Given the description of an element on the screen output the (x, y) to click on. 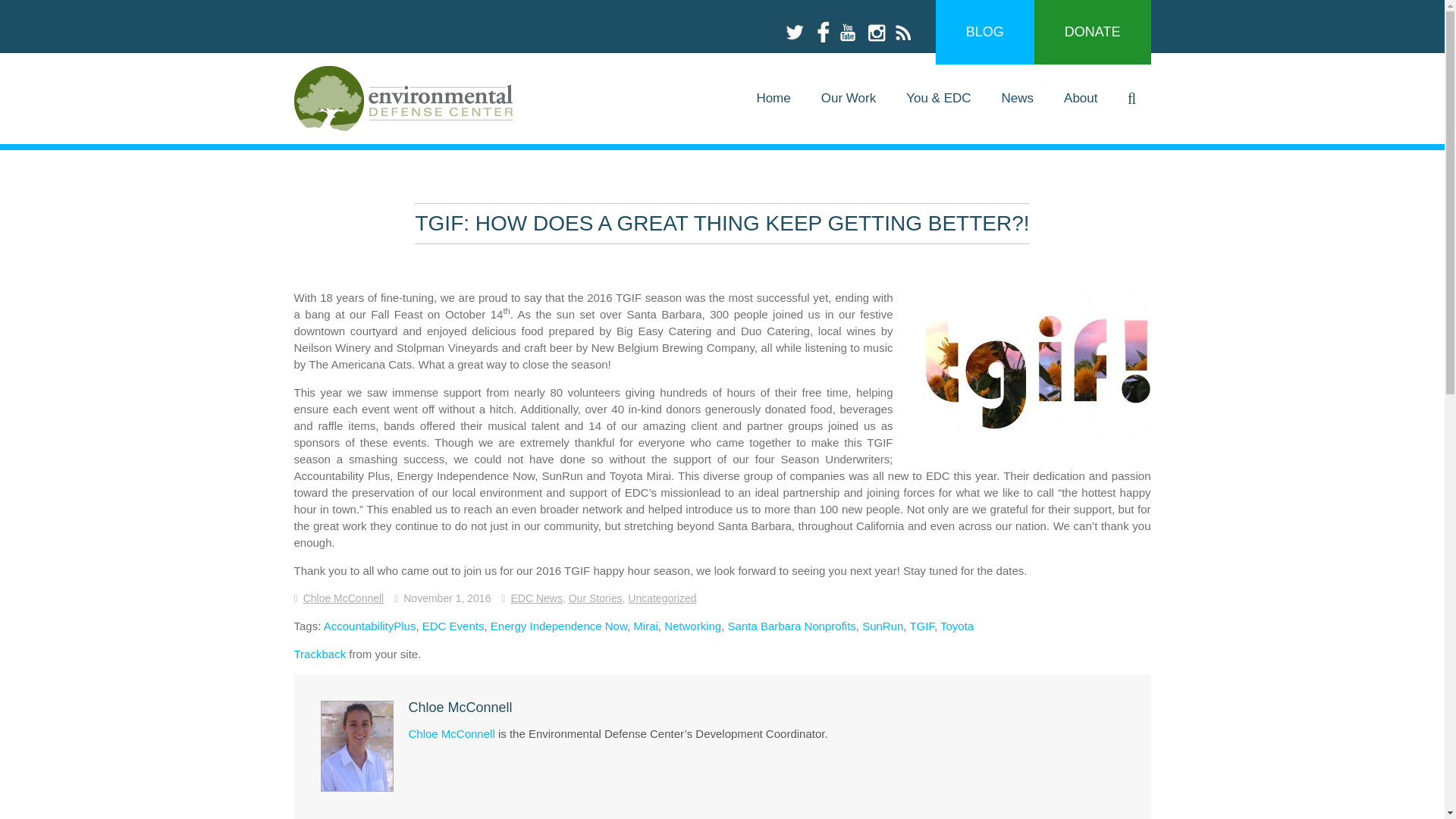
Our Stories (596, 598)
DONATE (1092, 32)
Our Work (848, 98)
Chloe McConnell (343, 598)
Chloe McConnell (343, 598)
EDC News (536, 598)
BLOG (984, 32)
Uncategorized (661, 598)
